Given the description of an element on the screen output the (x, y) to click on. 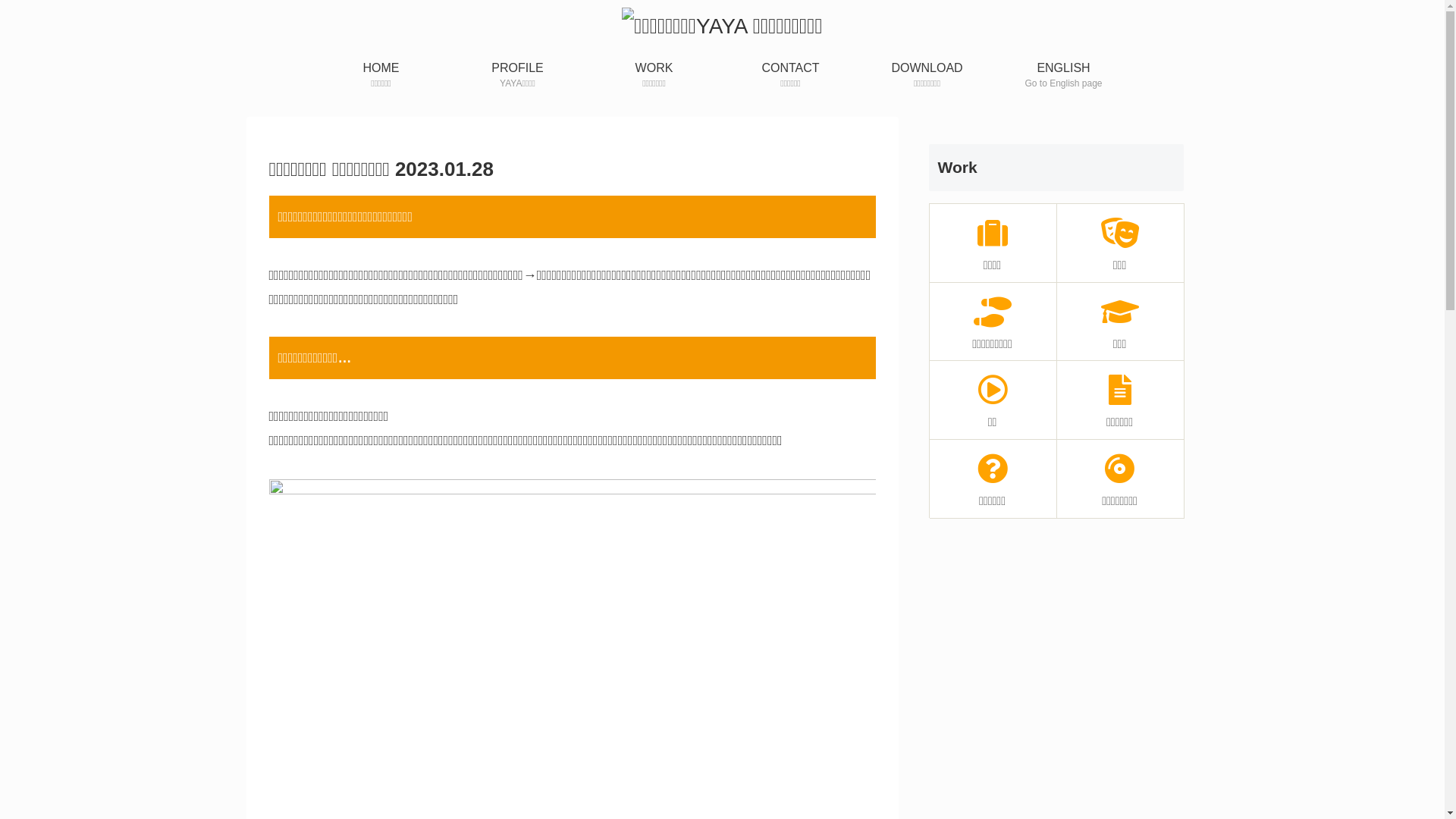
ENGLISH
Go to English page Element type: text (1062, 75)
